Given the description of an element on the screen output the (x, y) to click on. 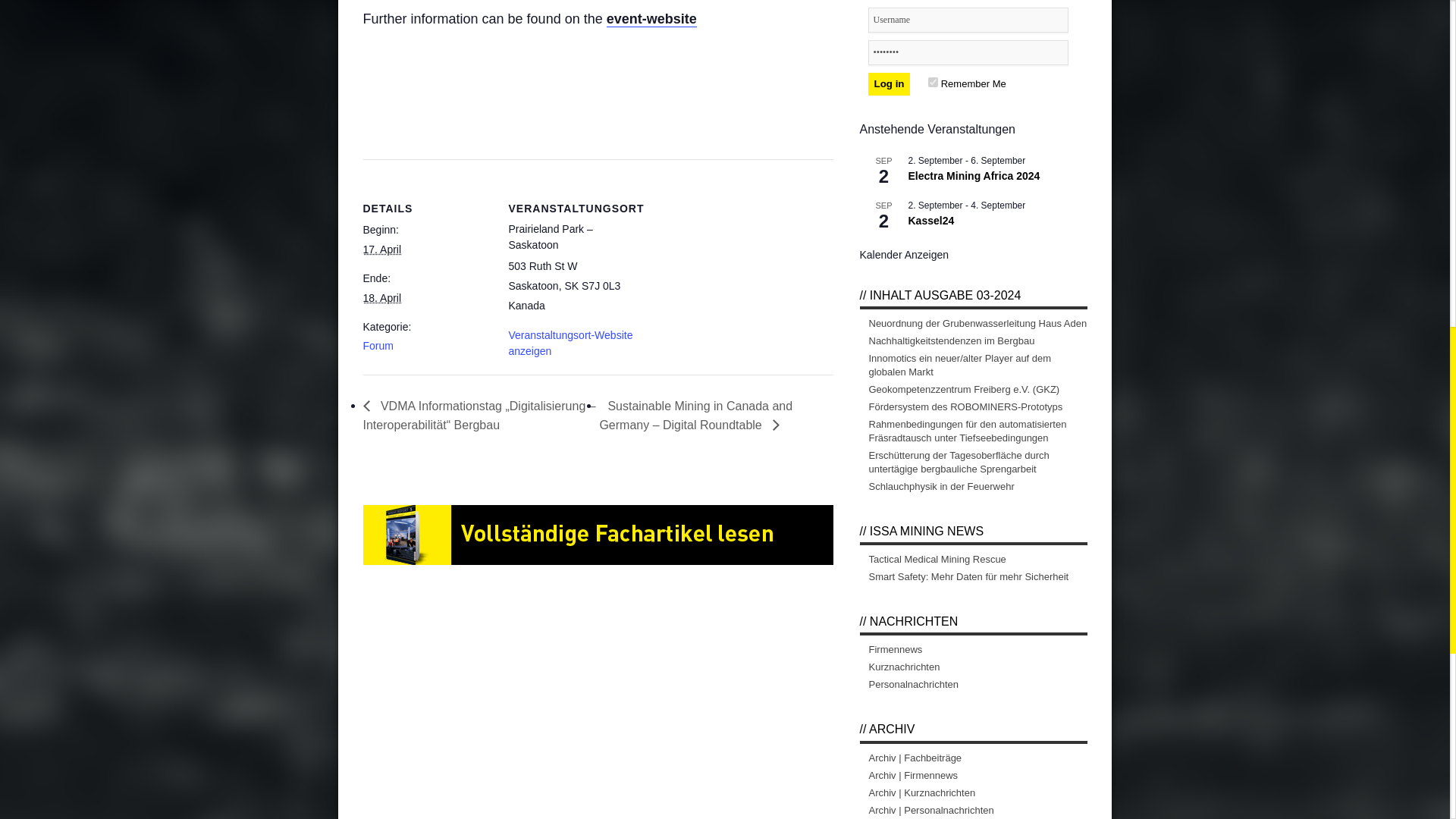
2024-04-17 (381, 249)
Log in (888, 83)
Electra Mining Africa 2024 (974, 175)
Password (967, 52)
Username (967, 19)
Scroll To Top (1427, 60)
Forum (377, 345)
Kassel24 (931, 220)
Weitere anzeigen Veranstaltungen. (904, 254)
2024-04-18 (381, 297)
forever (932, 81)
